Given the description of an element on the screen output the (x, y) to click on. 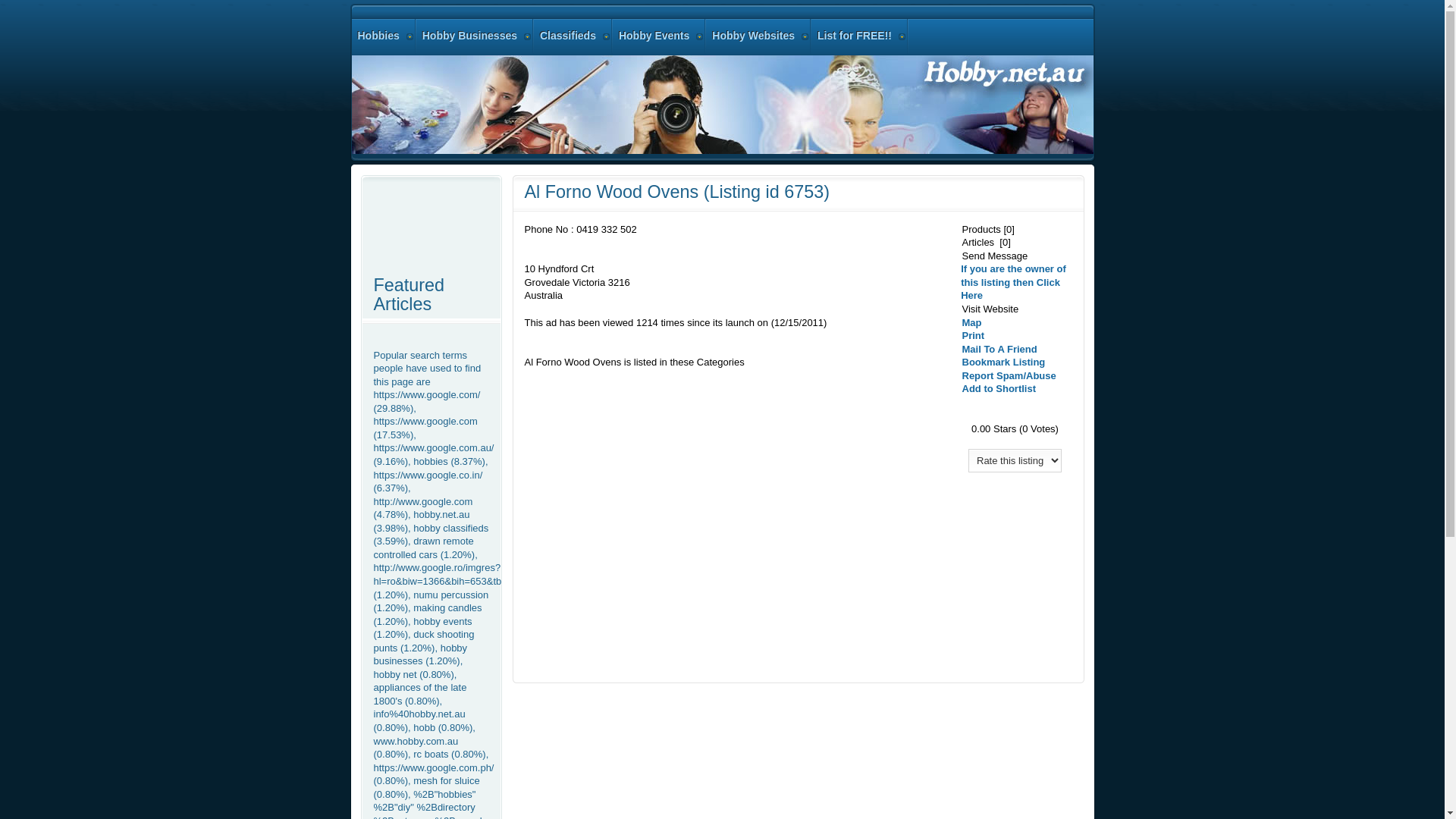
Mail To A Friend Element type: text (998, 348)
Hobby Events Element type: text (659, 36)
Map Element type: text (971, 322)
Print Element type: text (972, 335)
List for FREE!! Element type: text (859, 36)
Report Spam/Abuse Element type: text (1008, 375)
Classifieds Element type: text (572, 36)
Hobby Websites Element type: text (758, 36)
Add to Shortlist Element type: text (998, 388)
Hobby Businesses Element type: text (474, 36)
Hobbies Element type: text (383, 36)
If you are the owner of this listing then Click Here Element type: text (1013, 282)
Bookmark Listing Element type: text (1002, 361)
